Given the description of an element on the screen output the (x, y) to click on. 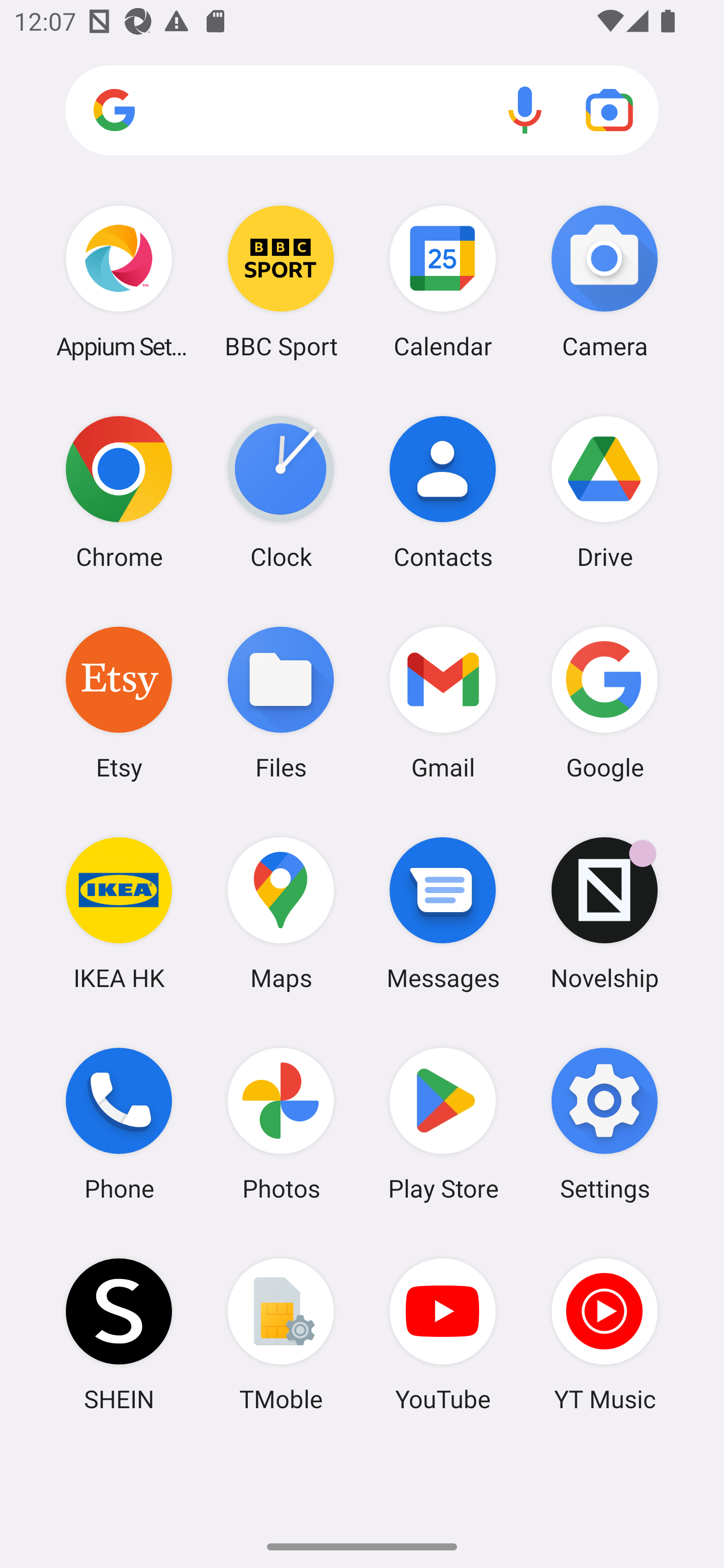
Search apps, web and more (361, 110)
Voice search (524, 109)
Google Lens (608, 109)
Appium Settings (118, 281)
BBC Sport (280, 281)
Calendar (443, 281)
Camera (604, 281)
Chrome (118, 492)
Clock (280, 492)
Contacts (443, 492)
Drive (604, 492)
Etsy (118, 702)
Files (280, 702)
Gmail (443, 702)
Google (604, 702)
IKEA HK (118, 913)
Maps (280, 913)
Messages (443, 913)
Novelship Novelship has 7 notifications (604, 913)
Phone (118, 1124)
Photos (280, 1124)
Play Store (443, 1124)
Settings (604, 1124)
SHEIN (118, 1334)
TMoble (280, 1334)
YouTube (443, 1334)
YT Music (604, 1334)
